Given the description of an element on the screen output the (x, y) to click on. 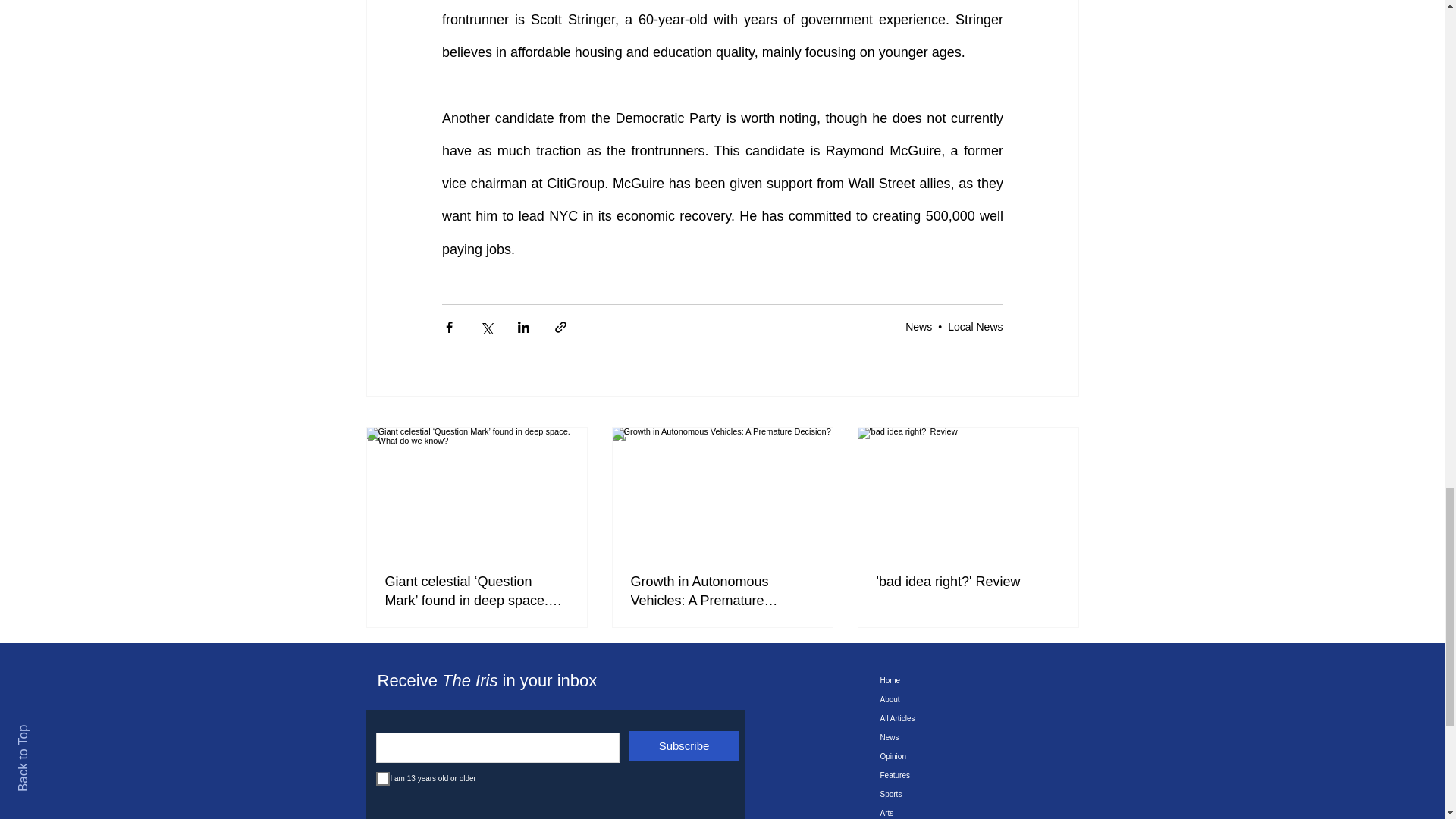
Local News (975, 326)
Growth in Autonomous Vehicles: A Premature Decision? (721, 591)
News (918, 326)
'bad idea right?' Review (967, 581)
